Given the description of an element on the screen output the (x, y) to click on. 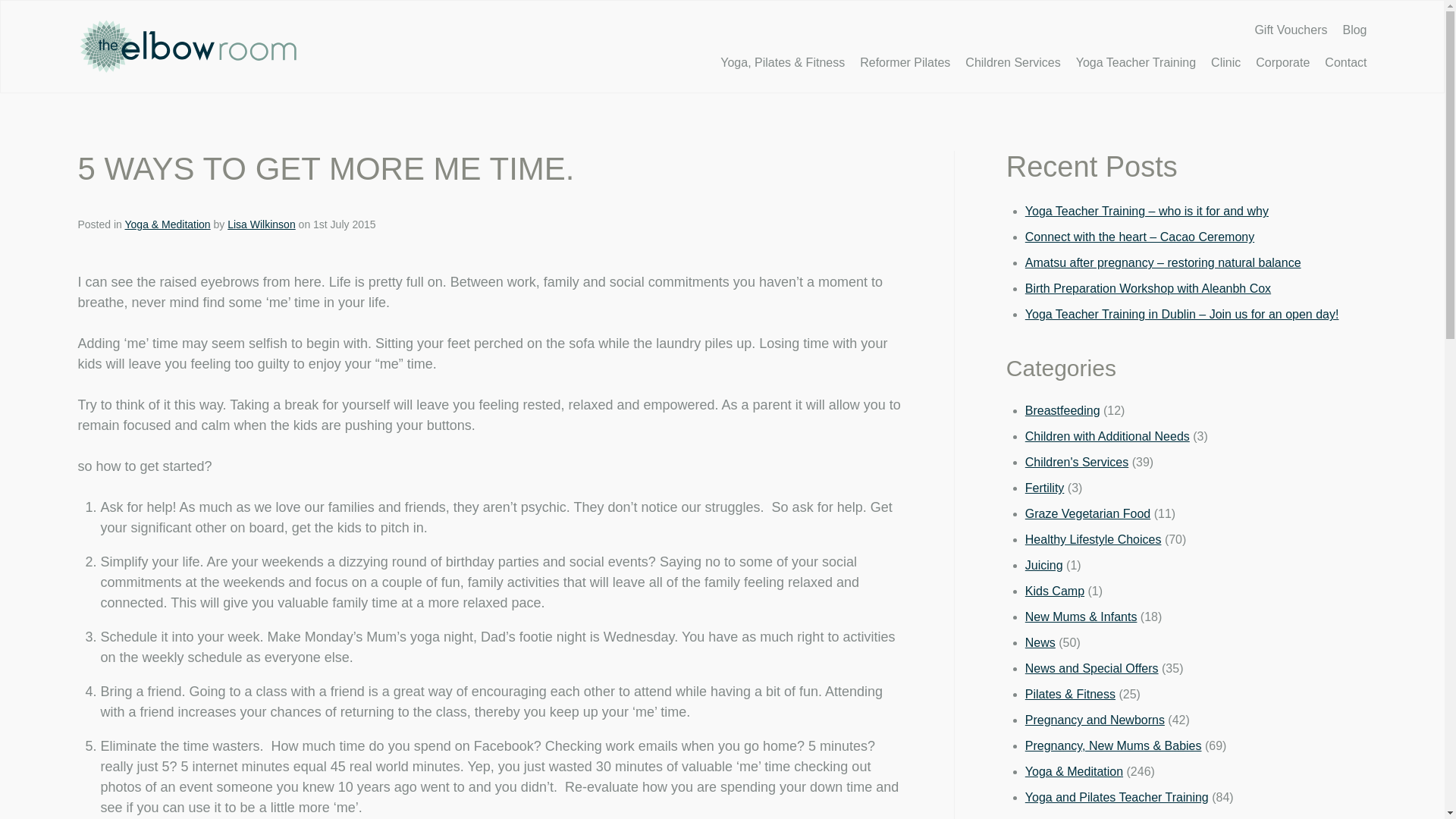
Corporate (1281, 62)
Yoga Teacher Training (1135, 62)
Lisa Wilkinson (261, 224)
Contact (1345, 62)
Blog (1354, 29)
Clinic (1225, 62)
Reformer Pilates (905, 62)
Gift Vouchers (1289, 29)
Children Services (1012, 62)
